Given the description of an element on the screen output the (x, y) to click on. 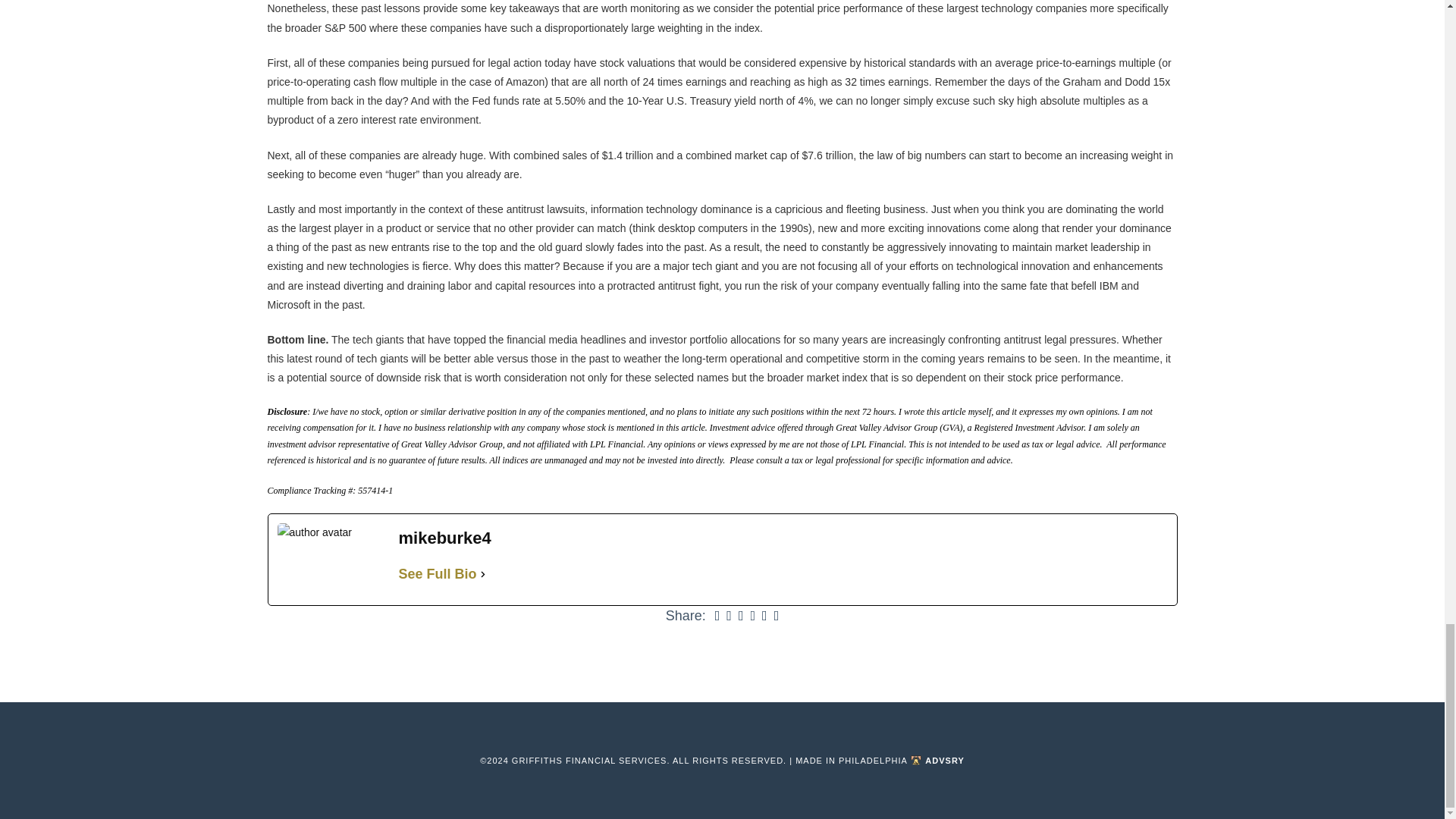
See Full Bio (437, 573)
ADVSRY (936, 760)
